Given the description of an element on the screen output the (x, y) to click on. 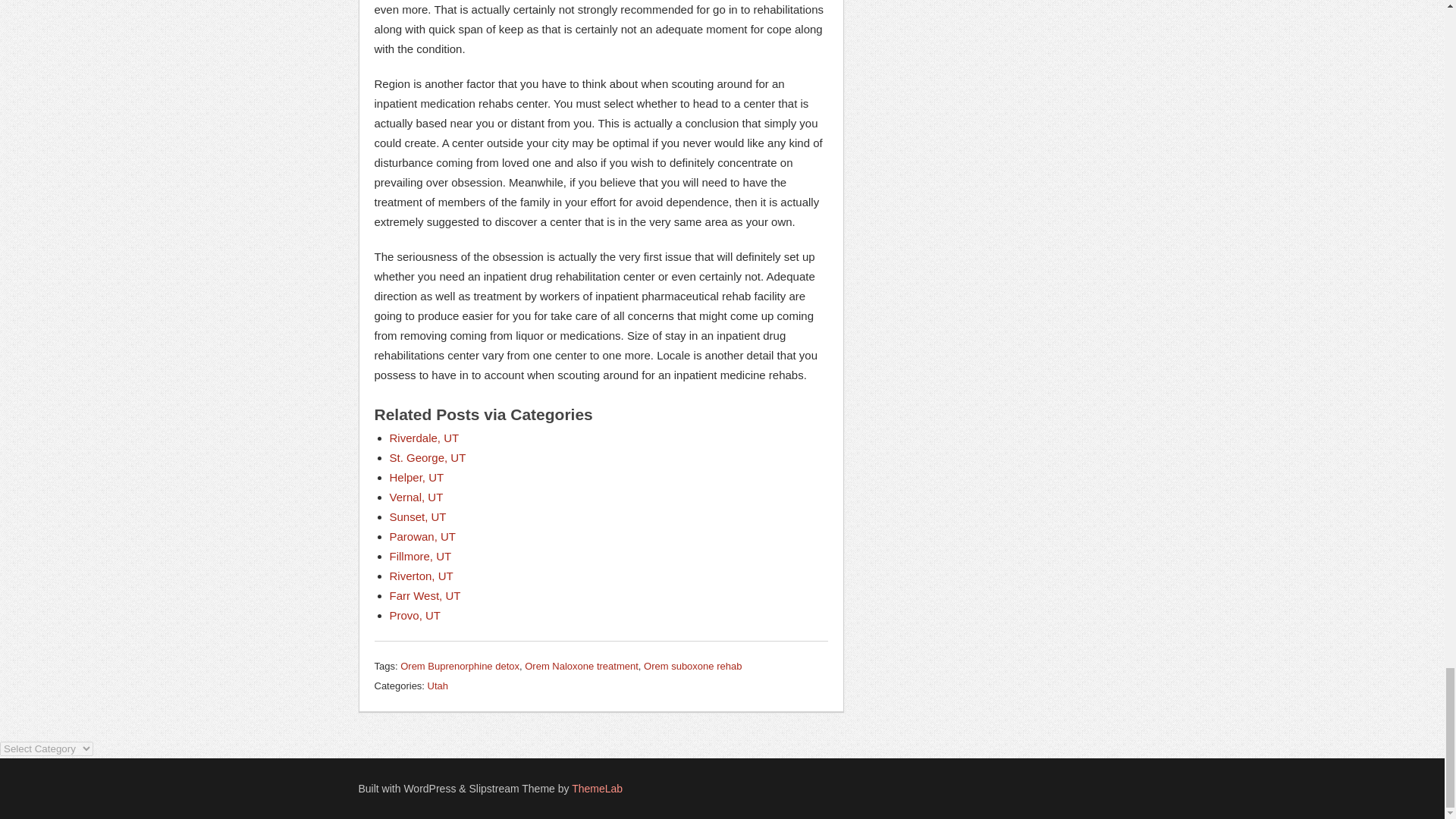
Riverton, UT (421, 575)
Vernal, UT (417, 496)
Orem Buprenorphine detox (459, 665)
WordPress Themes (597, 788)
St. George, UT (427, 457)
Riverton, UT (421, 575)
Fillmore, UT (420, 555)
Orem suboxone rehab (692, 665)
Parowan, UT (423, 535)
Parowan, UT (423, 535)
